Given the description of an element on the screen output the (x, y) to click on. 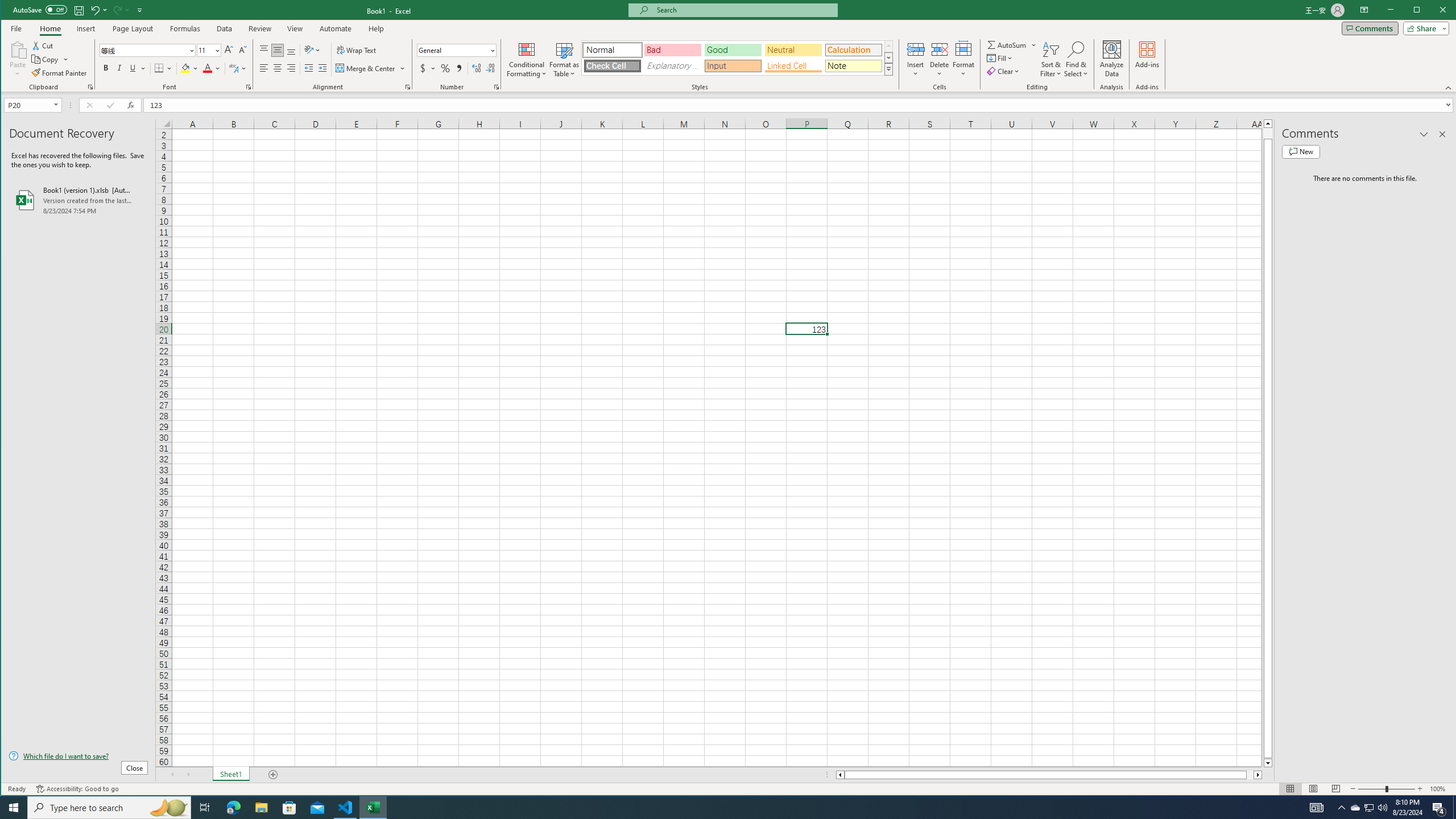
Decrease Indent (308, 68)
Copy (45, 59)
Accounting Number Format (422, 68)
Font Size (208, 49)
Excel - 1 running window (373, 807)
